Given the description of an element on the screen output the (x, y) to click on. 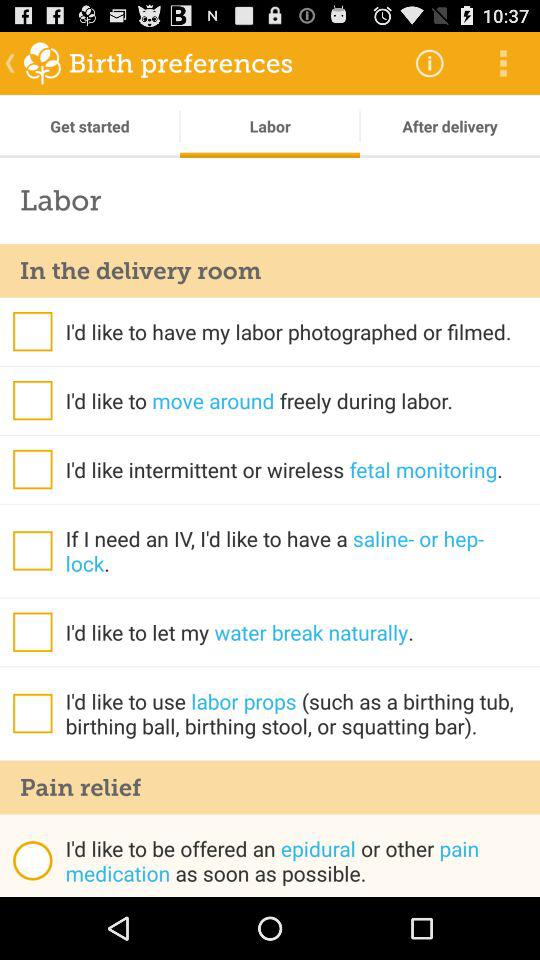
open the app to the right of labor item (429, 62)
